Given the description of an element on the screen output the (x, y) to click on. 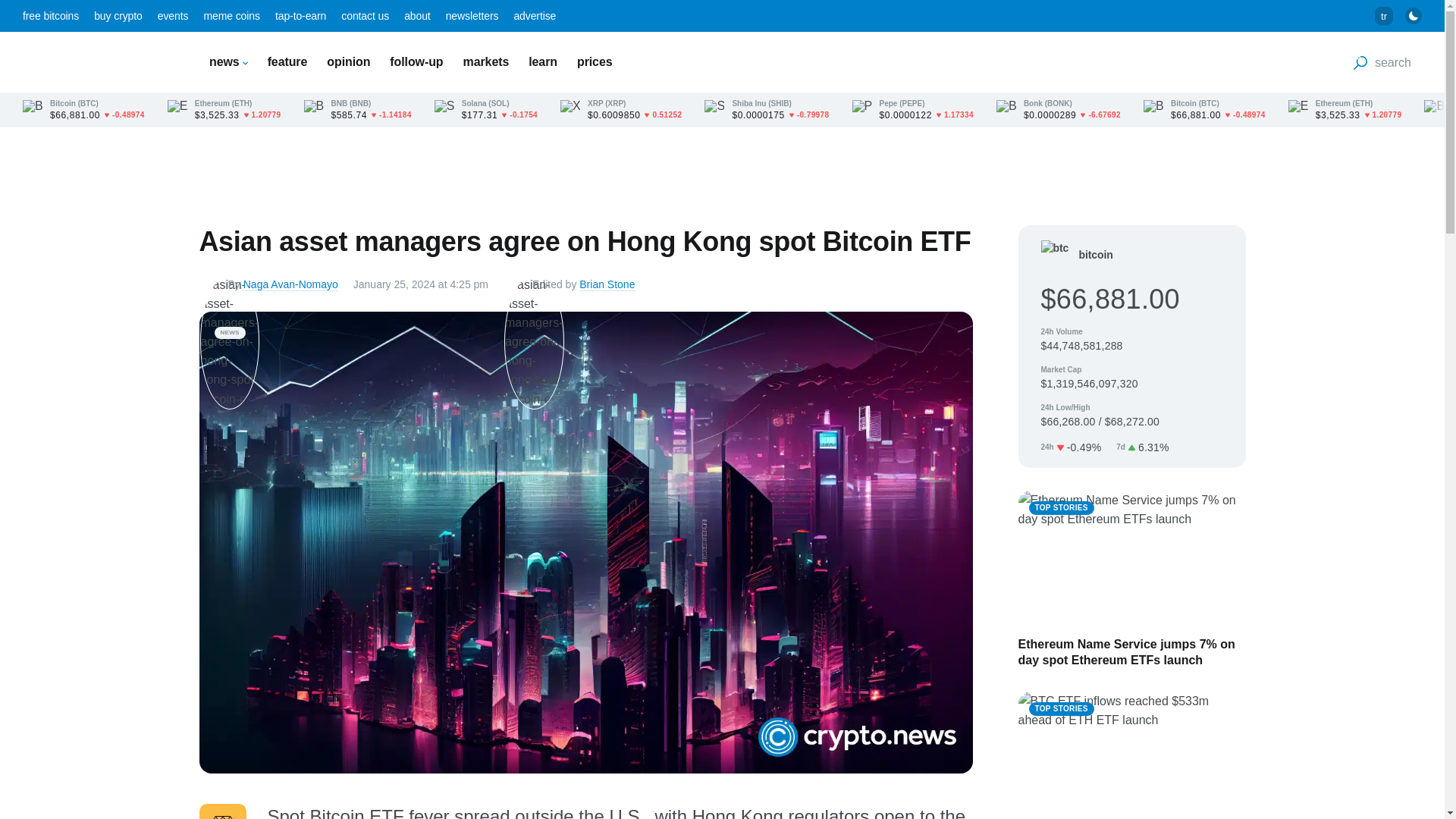
events (173, 15)
Bitcoin price (83, 109)
BNB price (356, 109)
advertise (534, 15)
newsletters (472, 15)
Ethereum price (224, 109)
markets (486, 61)
about (417, 15)
learn (542, 61)
search (1382, 61)
tap-to-earn (300, 15)
Solana price (485, 109)
feature (287, 61)
follow-up (416, 61)
contact us (364, 15)
